Given the description of an element on the screen output the (x, y) to click on. 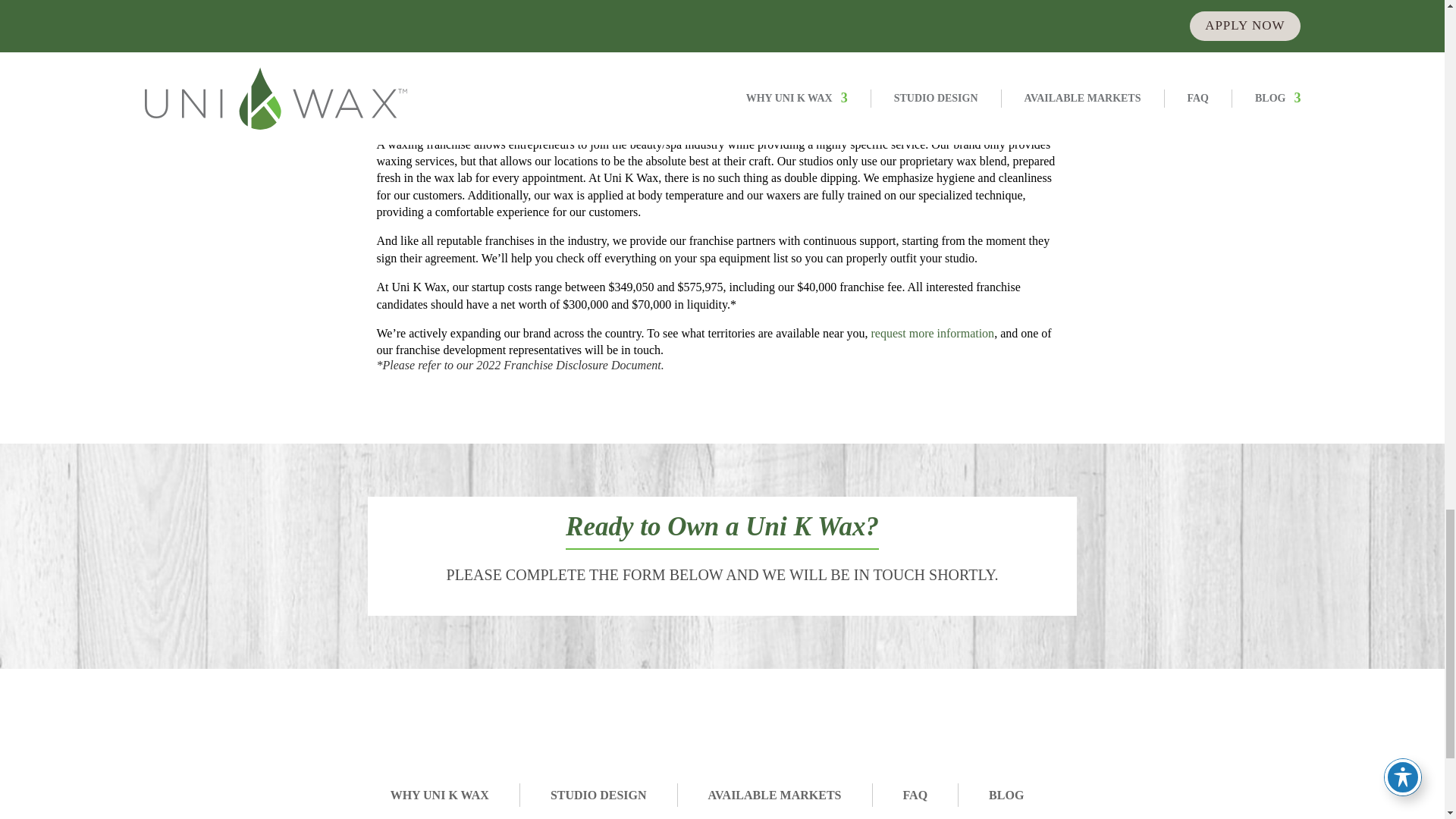
WHY UNI K WAX (439, 794)
request more information (932, 332)
BLOG (1005, 794)
STUDIO DESIGN (598, 794)
FAQ (914, 794)
AVAILABLE MARKETS (774, 794)
